Given the description of an element on the screen output the (x, y) to click on. 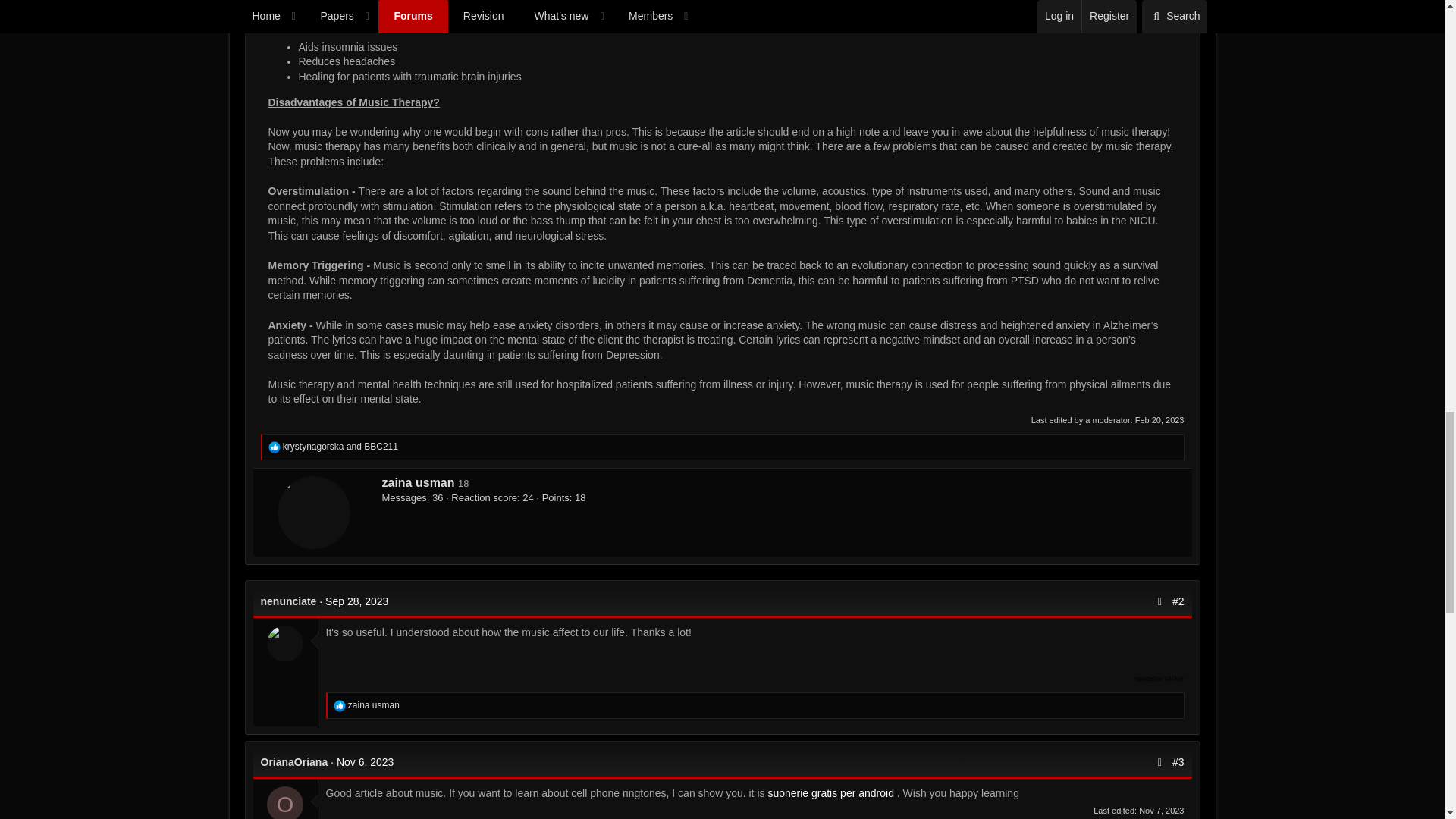
Feb 20, 2023 at 9:51 PM (1160, 420)
Nov 6, 2023 at 8:47 AM (365, 761)
Nov 7, 2023 at 8:13 AM (1160, 809)
Sep 28, 2023 at 5:20 AM (356, 601)
Like (339, 705)
Like (274, 447)
